Given the description of an element on the screen output the (x, y) to click on. 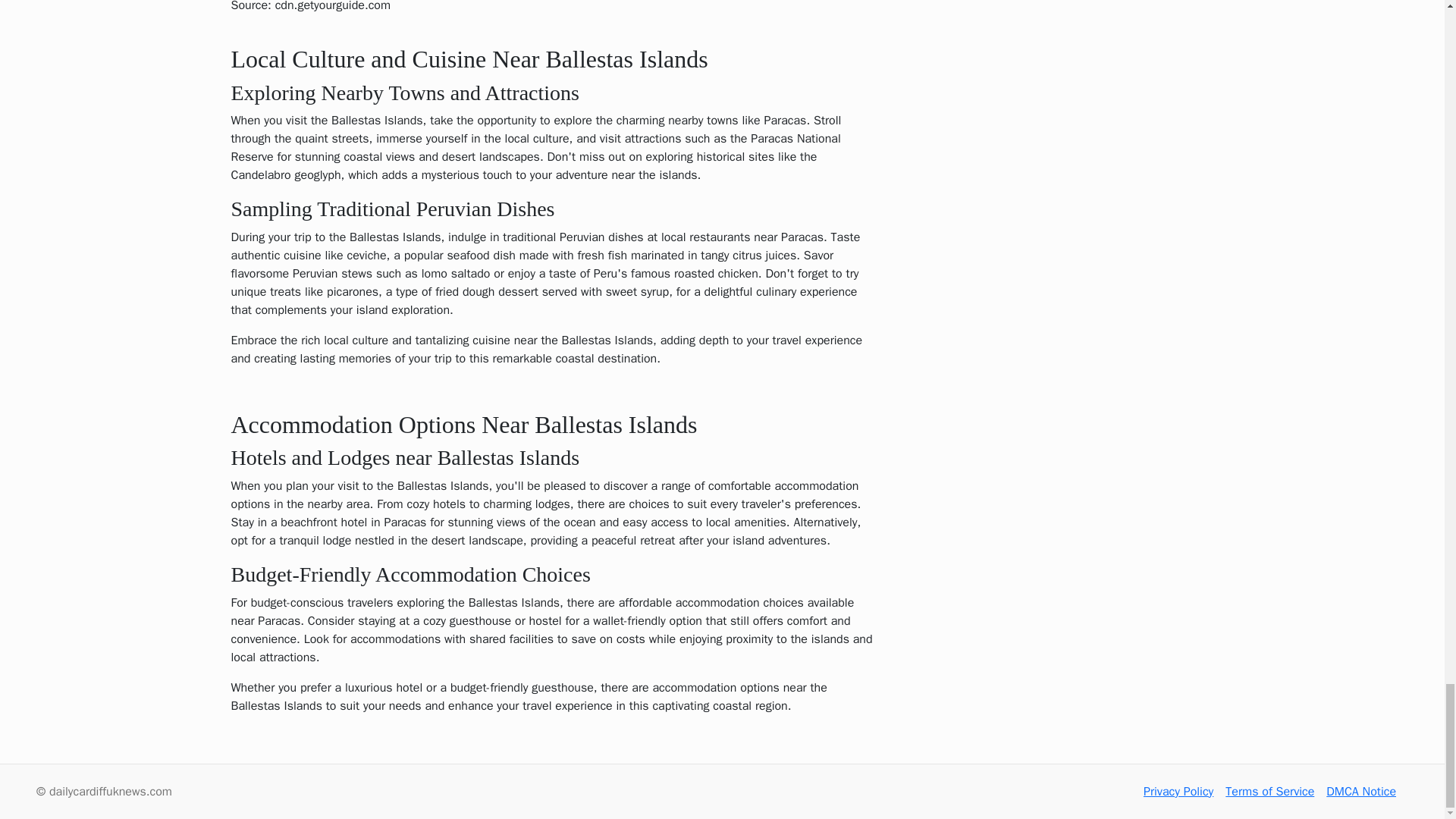
DMCA Notice (1361, 791)
Privacy Policy (1177, 791)
Terms of Service (1269, 791)
